Given the description of an element on the screen output the (x, y) to click on. 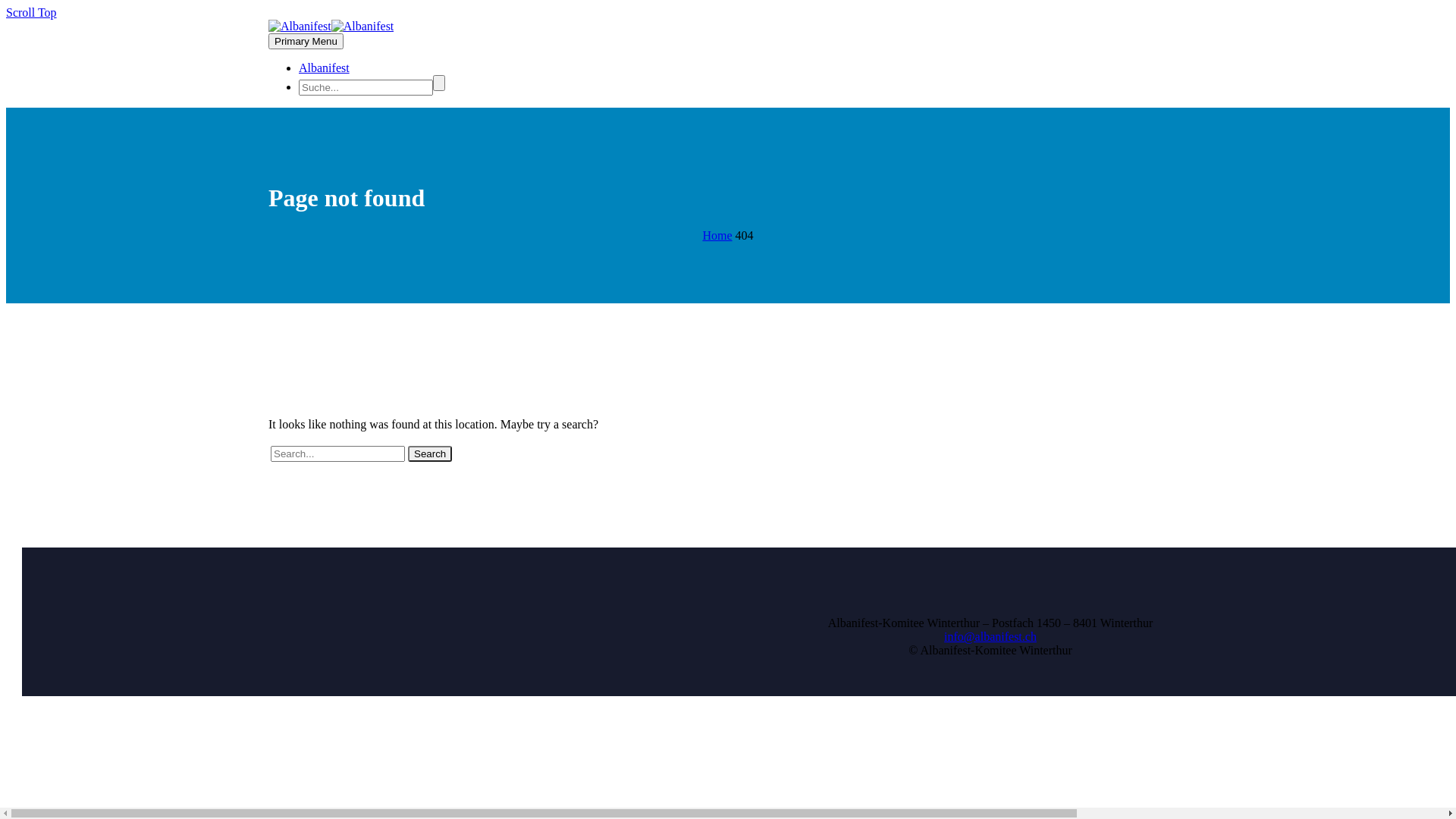
info@albanifest.ch Element type: text (990, 636)
Scroll Top Element type: text (31, 12)
Home Element type: text (716, 235)
Search Element type: text (429, 453)
Primary Menu Element type: text (305, 41)
Albanifest Element type: text (323, 67)
